Given the description of an element on the screen output the (x, y) to click on. 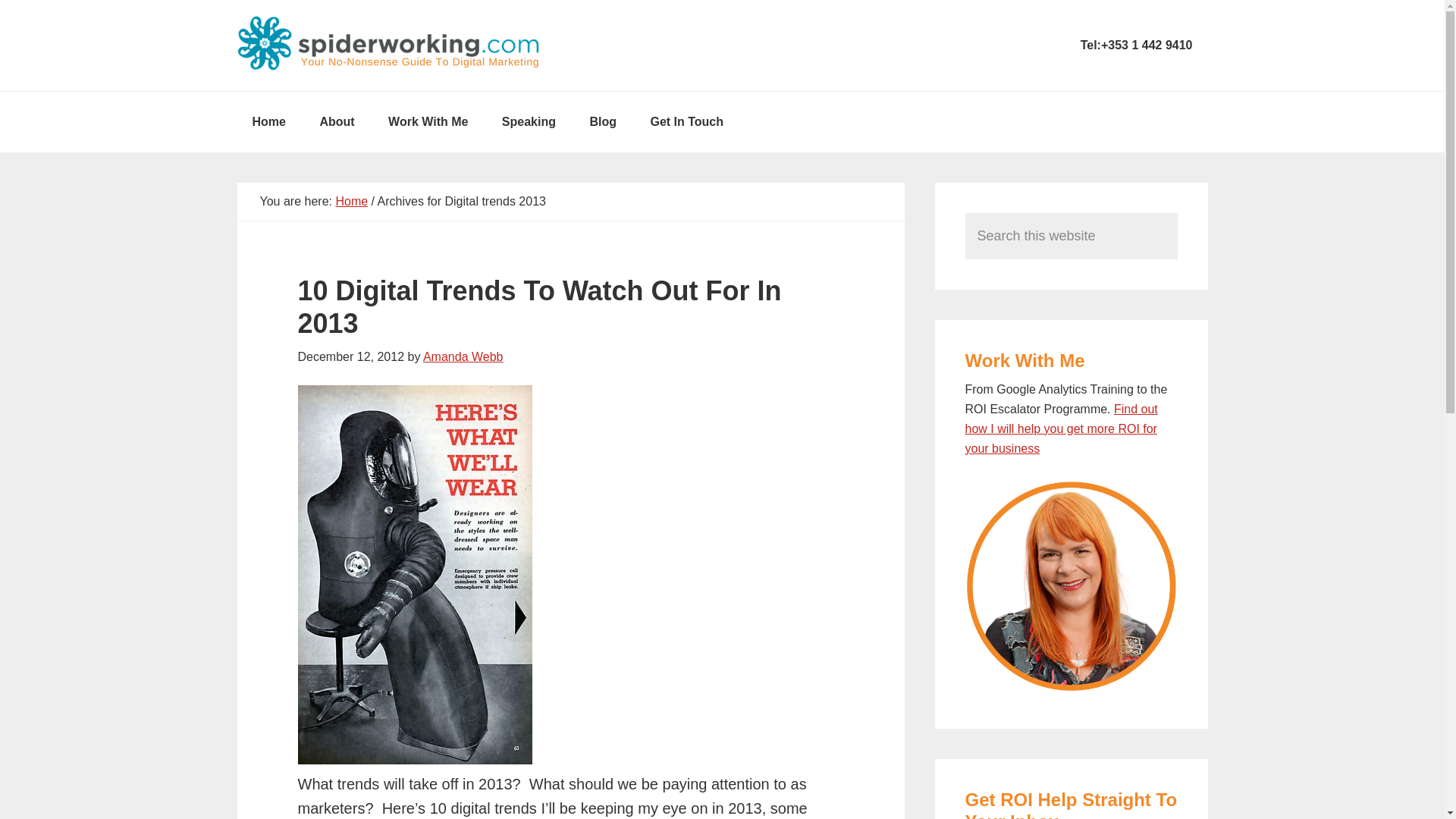
Home (351, 201)
Home (267, 121)
Home (267, 121)
Blog (602, 121)
Get In Touch (686, 121)
About (336, 121)
